Given the description of an element on the screen output the (x, y) to click on. 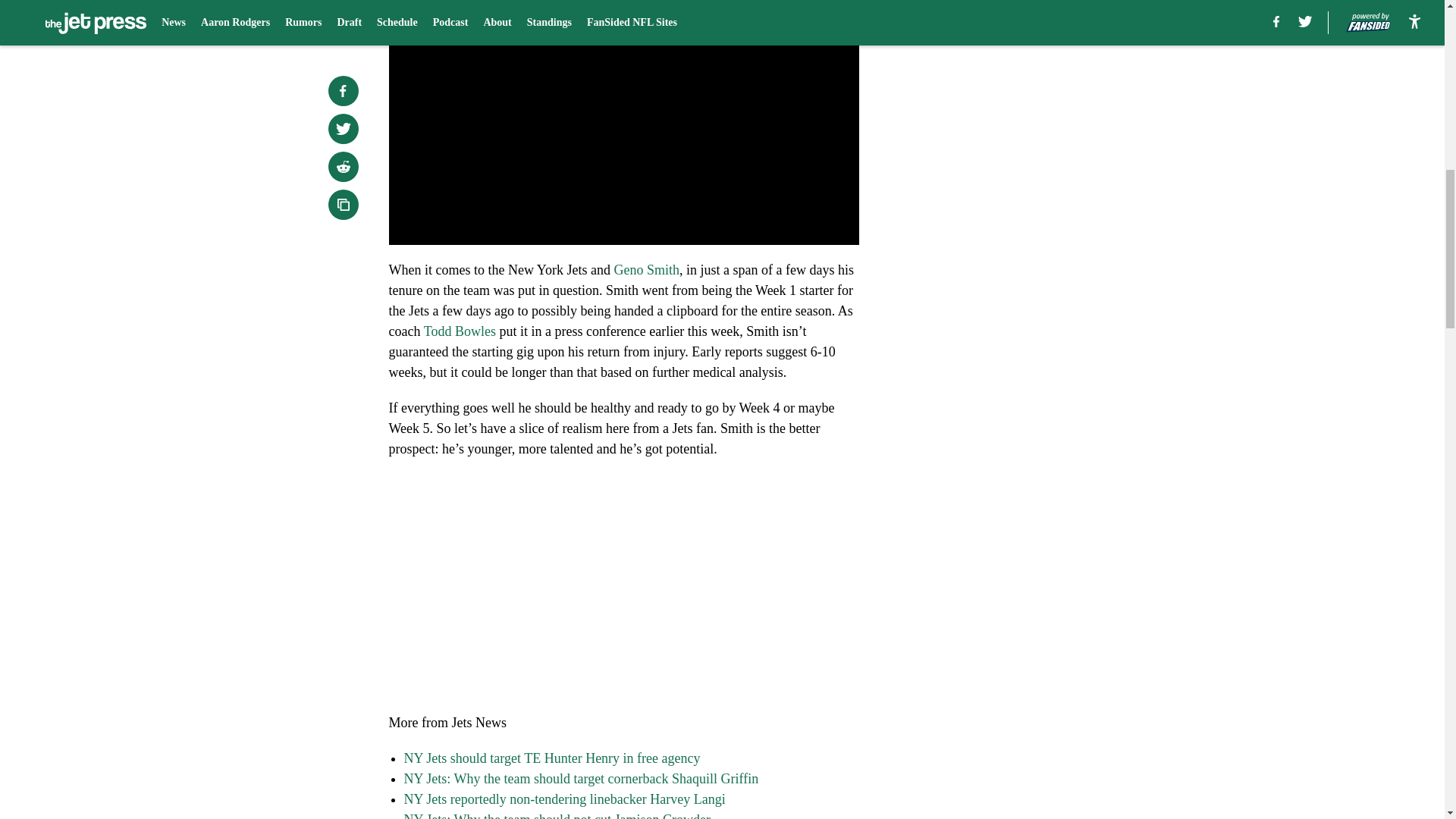
Geno Smith (645, 269)
NY Jets reportedly non-tendering linebacker Harvey Langi (564, 798)
NY Jets: Why the team should not cut Jamison Crowder (556, 815)
Todd Bowles (459, 331)
NY Jets should target TE Hunter Henry in free agency (551, 758)
